Given the description of an element on the screen output the (x, y) to click on. 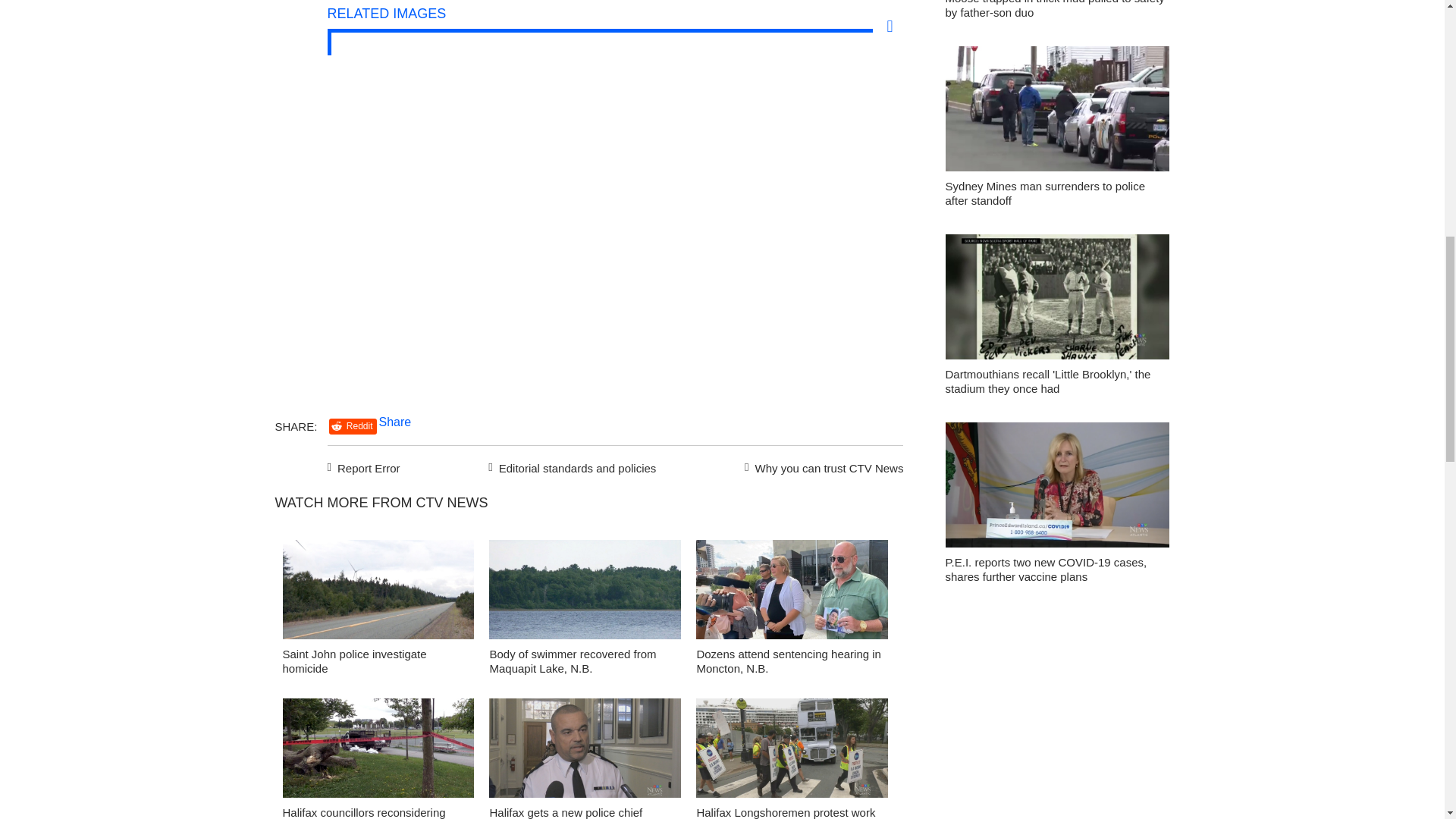
Dozens attend sentencing hearing in Moncton, N.B. (787, 660)
Reddit (353, 426)
Halifax Longshoremen protest work agreement (785, 812)
false (585, 589)
false (378, 747)
false (791, 589)
Halifax gets a new police chief (565, 812)
Report Error (363, 466)
false (791, 747)
Editorial standards and policies (569, 466)
